Given the description of an element on the screen output the (x, y) to click on. 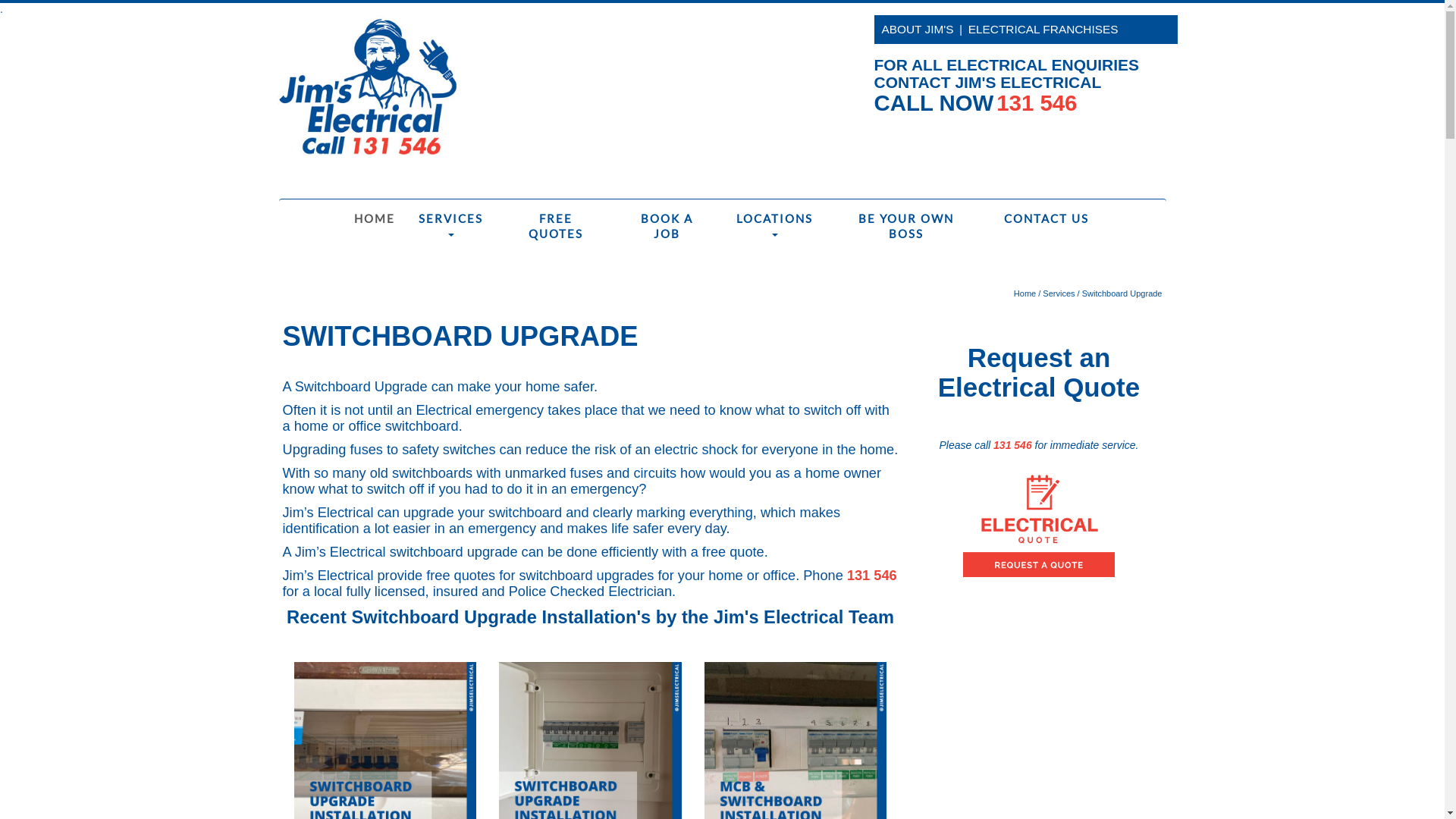
ELECTRICAL FRANCHISES Element type: text (1043, 28)
ABOUT JIM'S Element type: text (917, 28)
LOCATIONS Element type: text (774, 225)
131 546 Element type: text (1012, 444)
BE YOUR OWN BOSS Element type: text (905, 225)
131 546 Element type: text (1036, 106)
Home Element type: text (1024, 293)
Switchboard Upgrade Element type: text (1122, 293)
SERVICES Element type: text (450, 225)
Services Element type: text (1058, 293)
131 546 Element type: text (872, 575)
FREE QUOTES Element type: text (556, 225)
BOOK A JOB Element type: text (665, 225)
CONTACT US Element type: text (1039, 218)
HOME Element type: text (371, 218)
